Given the description of an element on the screen output the (x, y) to click on. 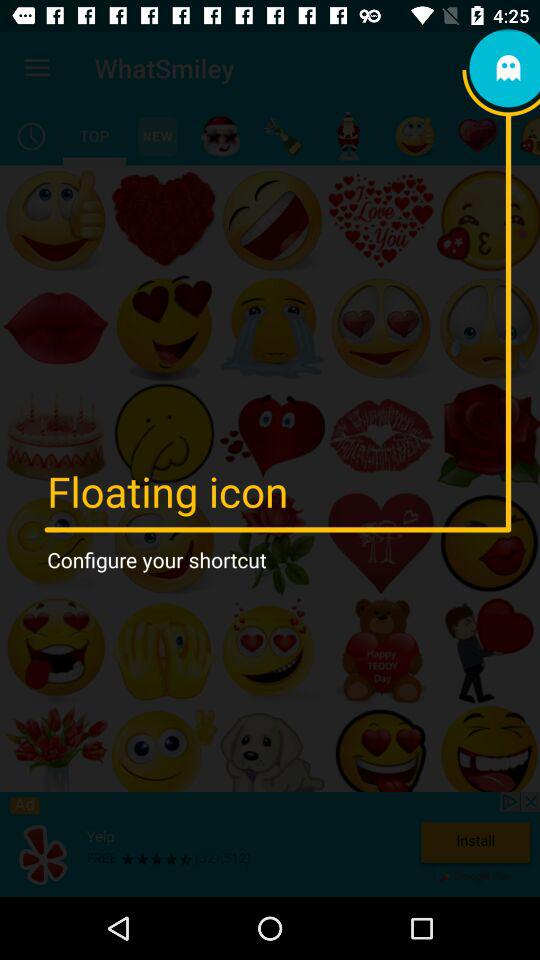
happy face emojis (414, 136)
